Given the description of an element on the screen output the (x, y) to click on. 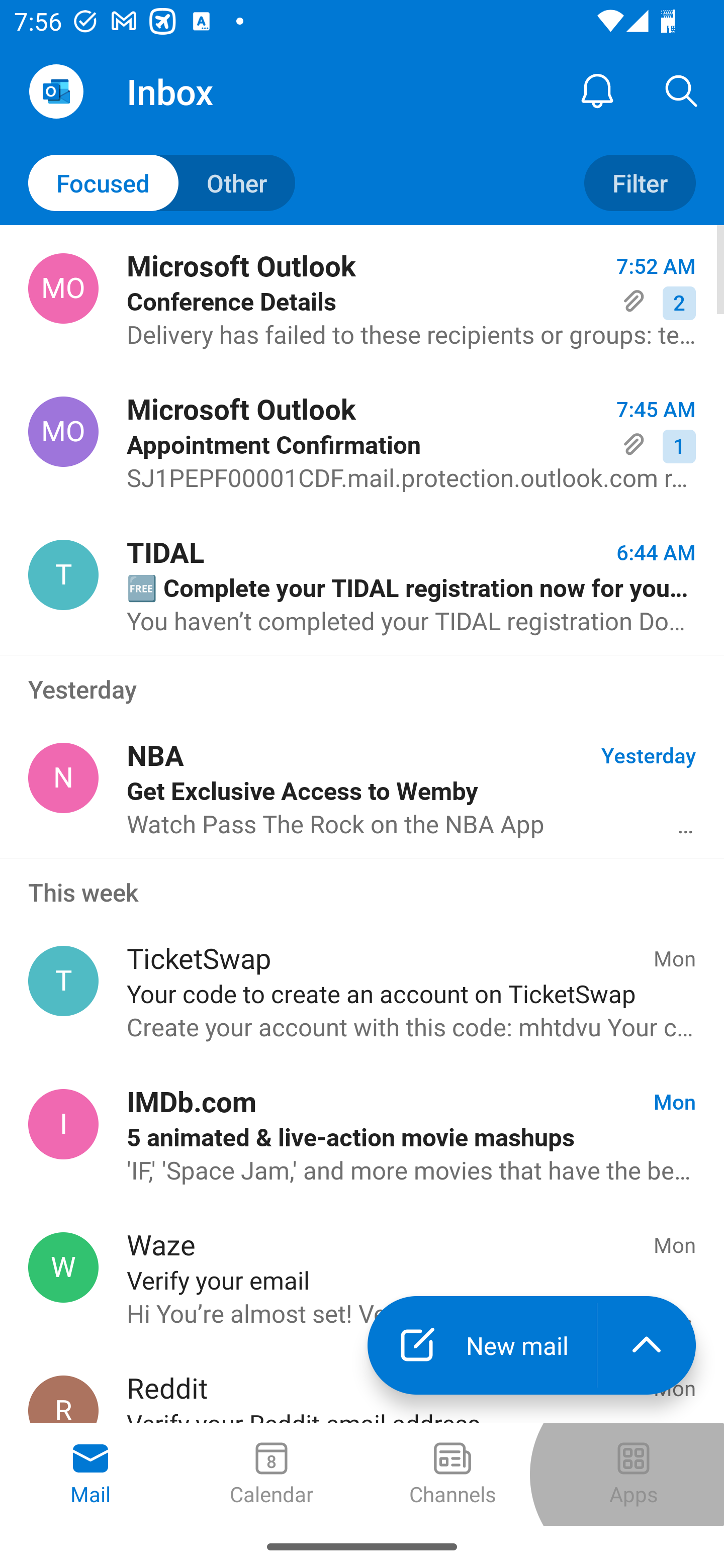
Notification Center (597, 90)
Search, ,  (681, 90)
Open Navigation Drawer (55, 91)
Toggle to other mails (161, 183)
Filter (639, 183)
TIDAL, hello@email.tidal.com (63, 574)
NBA, NBA@email.nba.com (63, 778)
TicketSwap, info@ticketswap.com (63, 980)
IMDb.com, do-not-reply@imdb.com (63, 1123)
Waze, noreply@waze.com (63, 1267)
New mail (481, 1344)
launch the extended action menu (646, 1344)
Calendar (271, 1474)
Channels (452, 1474)
Apps (633, 1474)
